Given the description of an element on the screen output the (x, y) to click on. 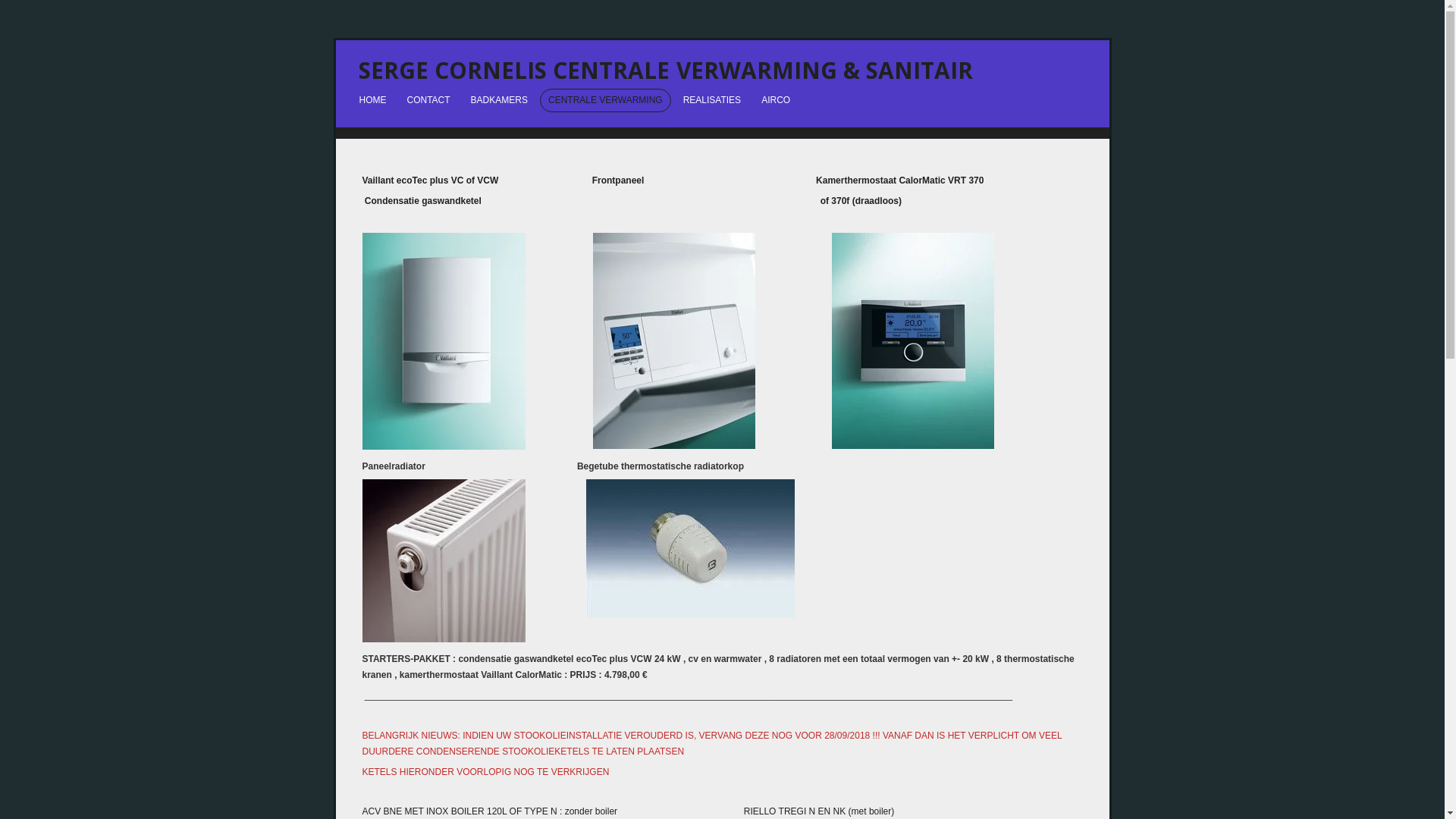
CONTACT Element type: text (428, 100)
SERGE CORNELIS CENTRALE VERWARMING & SANITAIR Element type: text (664, 68)
REALISATIES Element type: text (711, 100)
CENTRALE VERWARMING Element type: text (605, 100)
BADKAMERS Element type: text (499, 100)
AIRCO Element type: text (775, 100)
HOME Element type: text (372, 100)
